Given the description of an element on the screen output the (x, y) to click on. 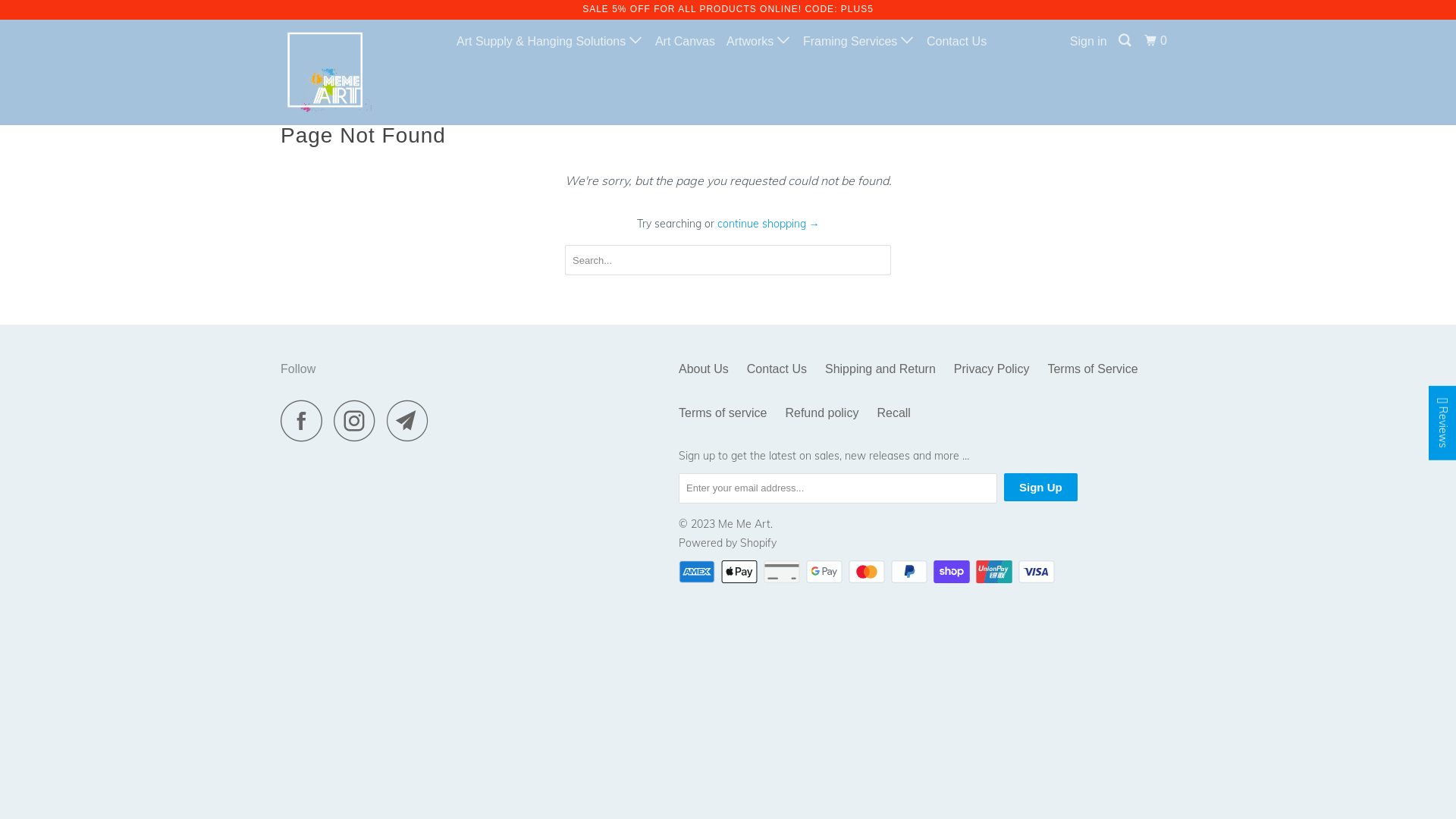
Privacy Policy Element type: text (991, 368)
Recall Element type: text (893, 412)
Framing Services Element type: text (859, 40)
Me Me Art on Facebook Element type: hover (305, 420)
Art Canvas Element type: text (685, 41)
Shipping and Return Element type: text (880, 368)
Powered by Shopify Element type: text (727, 542)
Me Me Art on Instagram Element type: hover (358, 420)
Me Me Art Element type: text (744, 523)
0 Element type: text (1157, 40)
Sign in Element type: text (1088, 41)
Artworks Element type: text (758, 40)
Me Me Art Element type: hover (358, 71)
Contact Us Element type: text (776, 368)
Search Element type: hover (1125, 40)
Terms of service Element type: text (722, 412)
Email Me Me Art Element type: hover (411, 420)
Sign Up Element type: text (1040, 487)
Contact Us Element type: text (956, 41)
Art Supply & Hanging Solutions Element type: text (549, 40)
Terms of Service Element type: text (1092, 368)
Refund policy Element type: text (821, 412)
About Us Element type: text (703, 368)
